Given the description of an element on the screen output the (x, y) to click on. 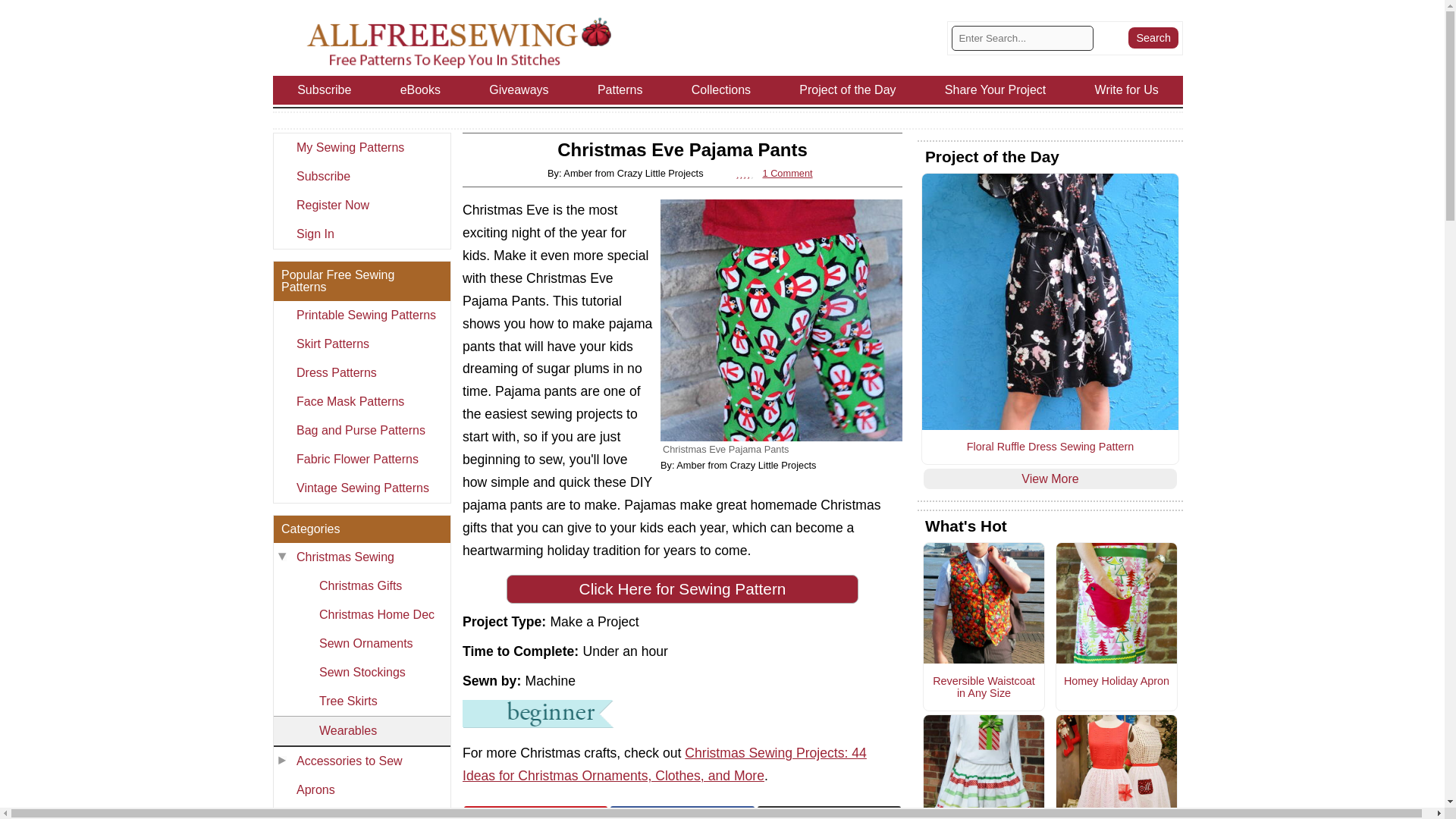
Christmas Eve Pajama Pants (781, 320)
Email (829, 812)
Search (1152, 37)
My Sewing Patterns (361, 147)
Sign In (361, 234)
Facebook (682, 812)
Register Now (361, 205)
Subscribe (361, 176)
